Given the description of an element on the screen output the (x, y) to click on. 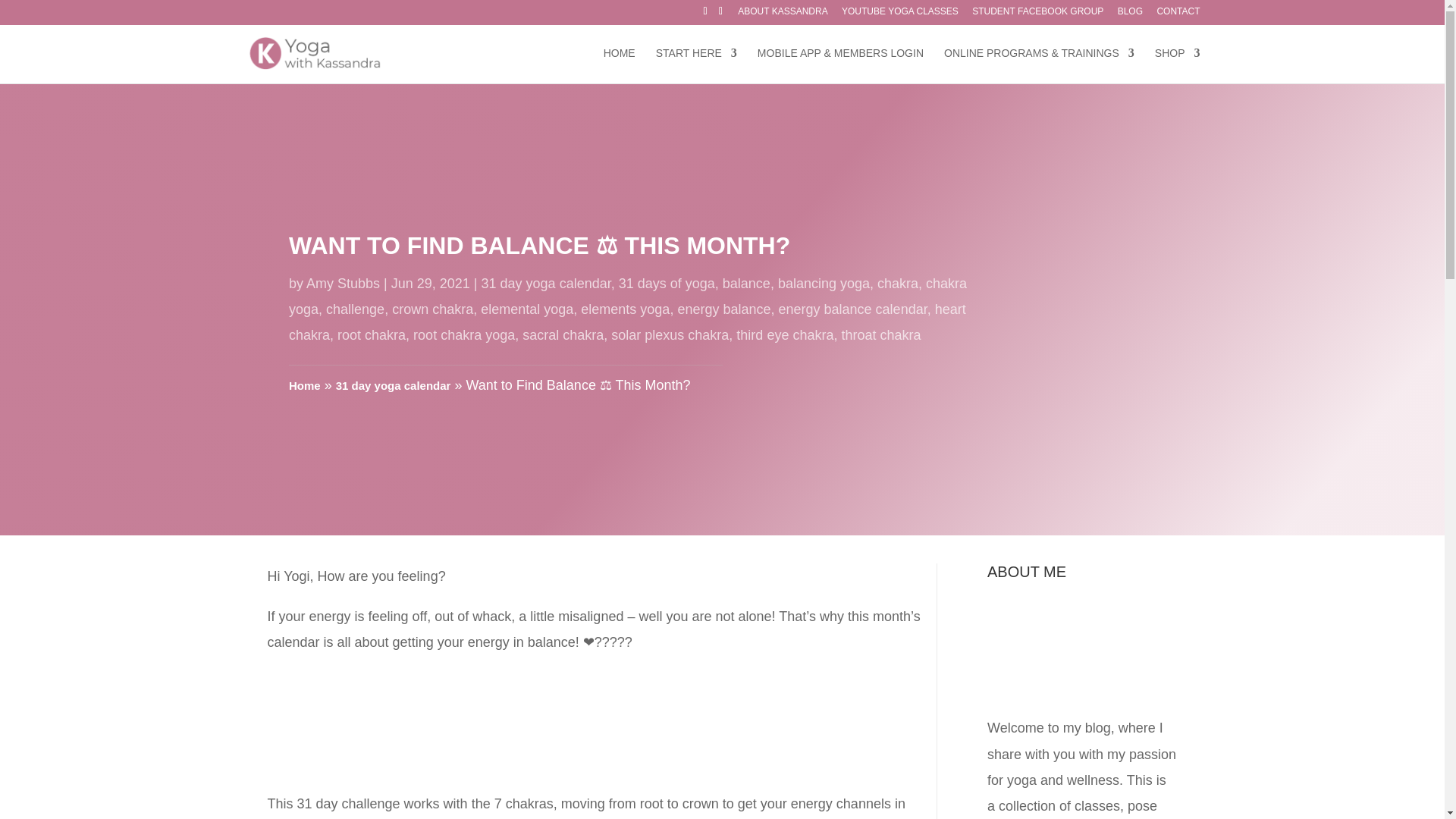
CONTACT (1177, 14)
Posts by Amy Stubbs (342, 283)
root chakra yoga (464, 335)
crown chakra (432, 309)
energy balance calendar (852, 309)
YOUTUBE YOGA CLASSES (899, 14)
START HERE (696, 65)
challenge (355, 309)
elemental yoga (526, 309)
elements yoga (624, 309)
solar plexus chakra (670, 335)
chakra (897, 283)
31 day yoga calendar (546, 283)
balancing yoga (823, 283)
third eye chakra (784, 335)
